Given the description of an element on the screen output the (x, y) to click on. 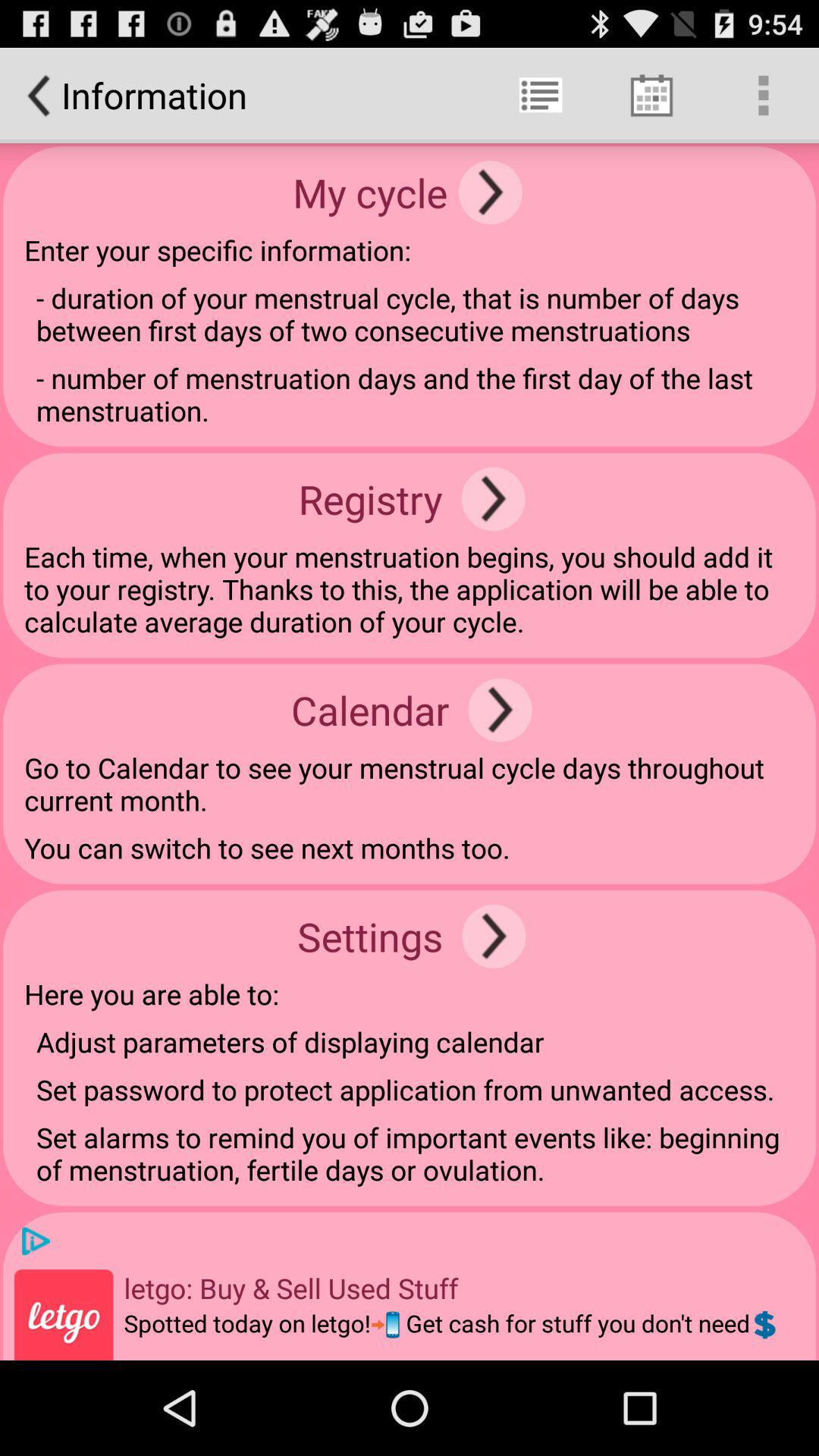
open the icon next to the registry (493, 499)
